Given the description of an element on the screen output the (x, y) to click on. 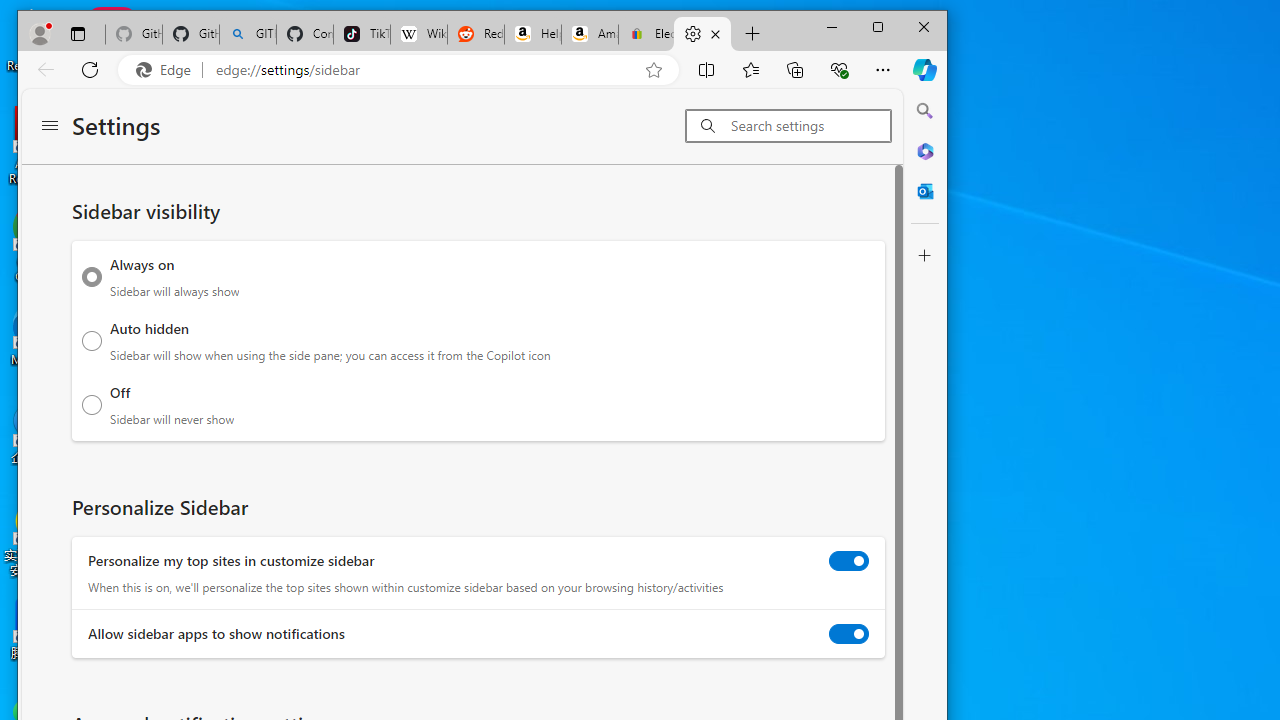
Always on Sidebar will always show (91, 277)
Edge (168, 69)
Personalize my top sites in customize sidebar (849, 560)
Maximize (878, 26)
Off Sidebar will never show (91, 404)
